Given the description of an element on the screen output the (x, y) to click on. 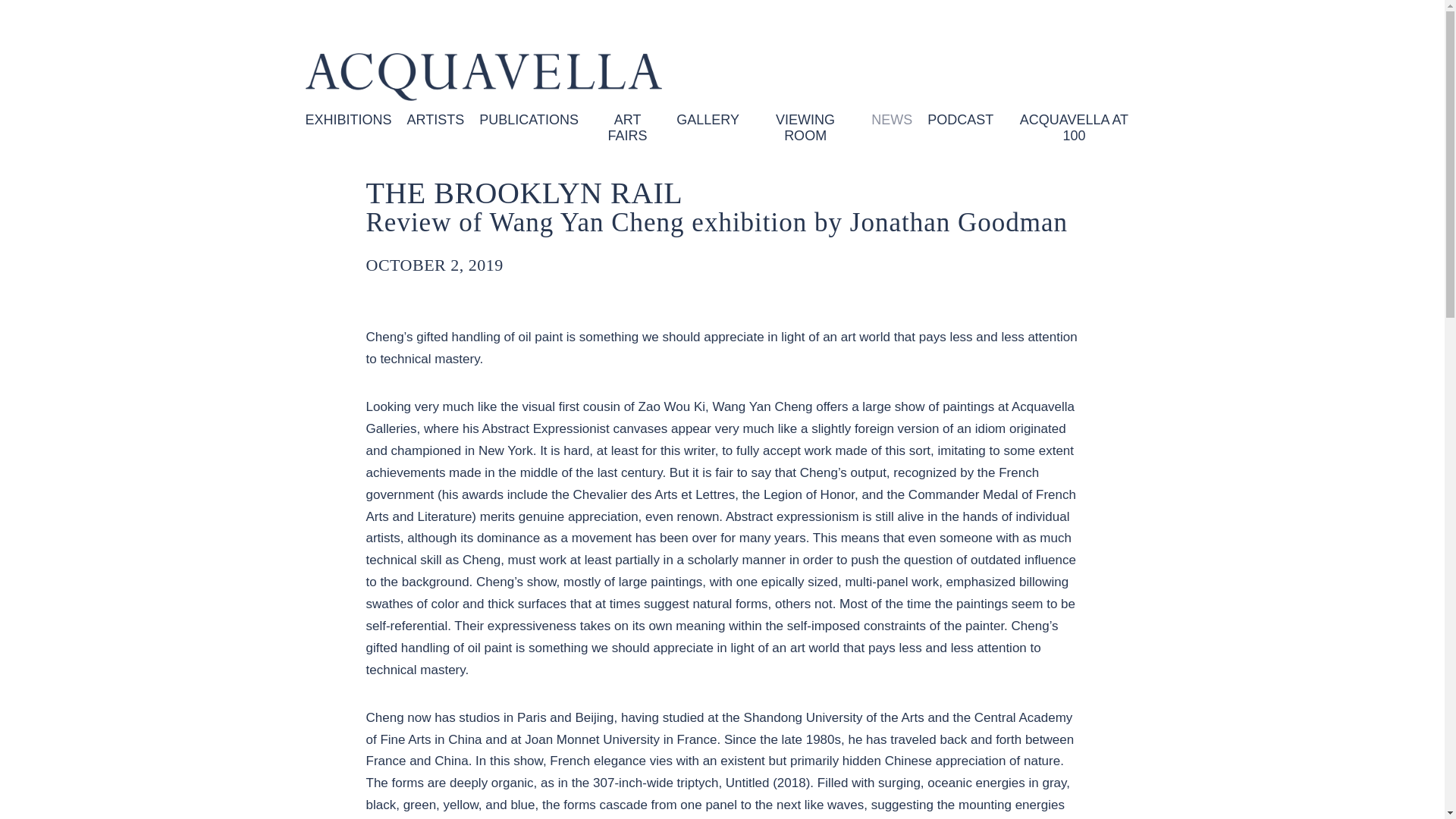
ARTISTS (435, 128)
PODCAST (959, 128)
VIEWING ROOM (805, 128)
ACQUAVELLA AT 100 (1073, 128)
NEWS (891, 128)
EXHIBITIONS (347, 128)
ART FAIRS (627, 128)
GALLERY (708, 128)
PUBLICATIONS (528, 128)
